Given the description of an element on the screen output the (x, y) to click on. 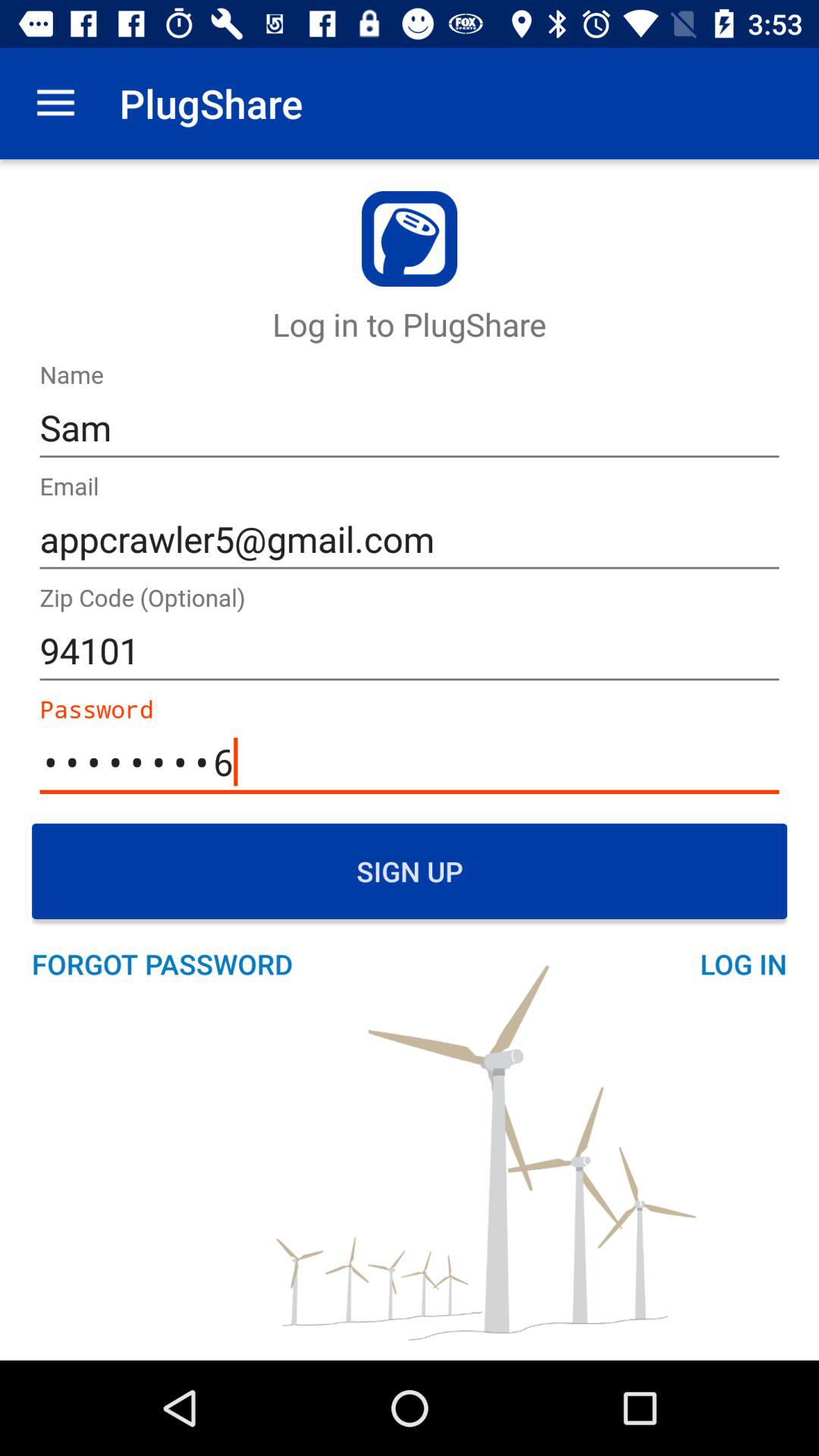
click forgot password icon (169, 963)
